Given the description of an element on the screen output the (x, y) to click on. 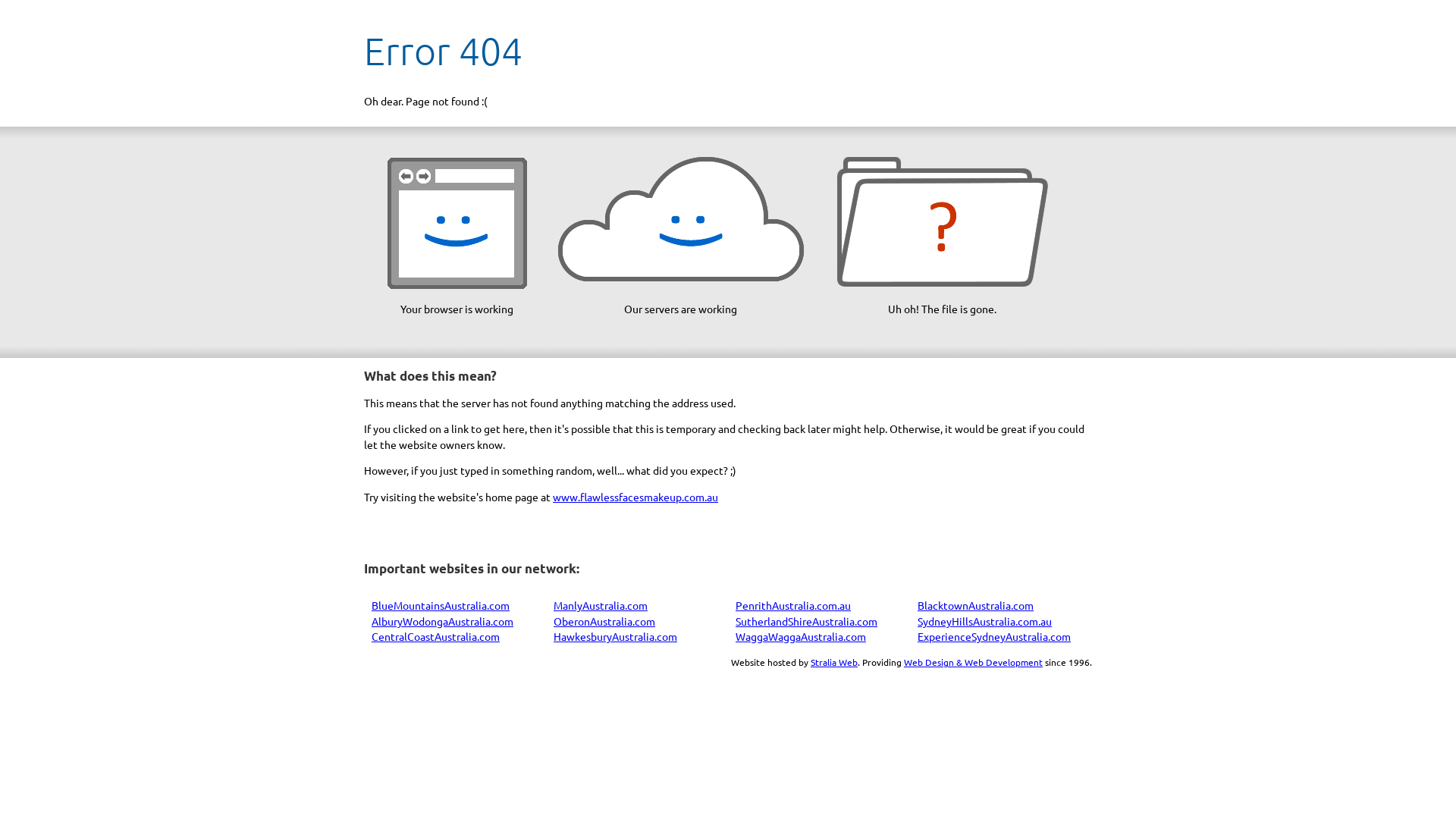
ExperienceSydneyAustralia.com Element type: text (993, 636)
OberonAustralia.com Element type: text (604, 620)
WaggaWaggaAustralia.com Element type: text (800, 636)
www.flawlessfacesmakeup.com.au Element type: text (635, 496)
BlueMountainsAustralia.com Element type: text (440, 604)
Stralia Web Element type: text (833, 661)
SutherlandShireAustralia.com Element type: text (806, 620)
AlburyWodongaAustralia.com Element type: text (442, 620)
CentralCoastAustralia.com Element type: text (435, 636)
ManlyAustralia.com Element type: text (600, 604)
BlacktownAustralia.com Element type: text (975, 604)
HawkesburyAustralia.com Element type: text (615, 636)
PenrithAustralia.com.au Element type: text (792, 604)
Web Design & Web Development Element type: text (972, 661)
SydneyHillsAustralia.com.au Element type: text (984, 620)
